Given the description of an element on the screen output the (x, y) to click on. 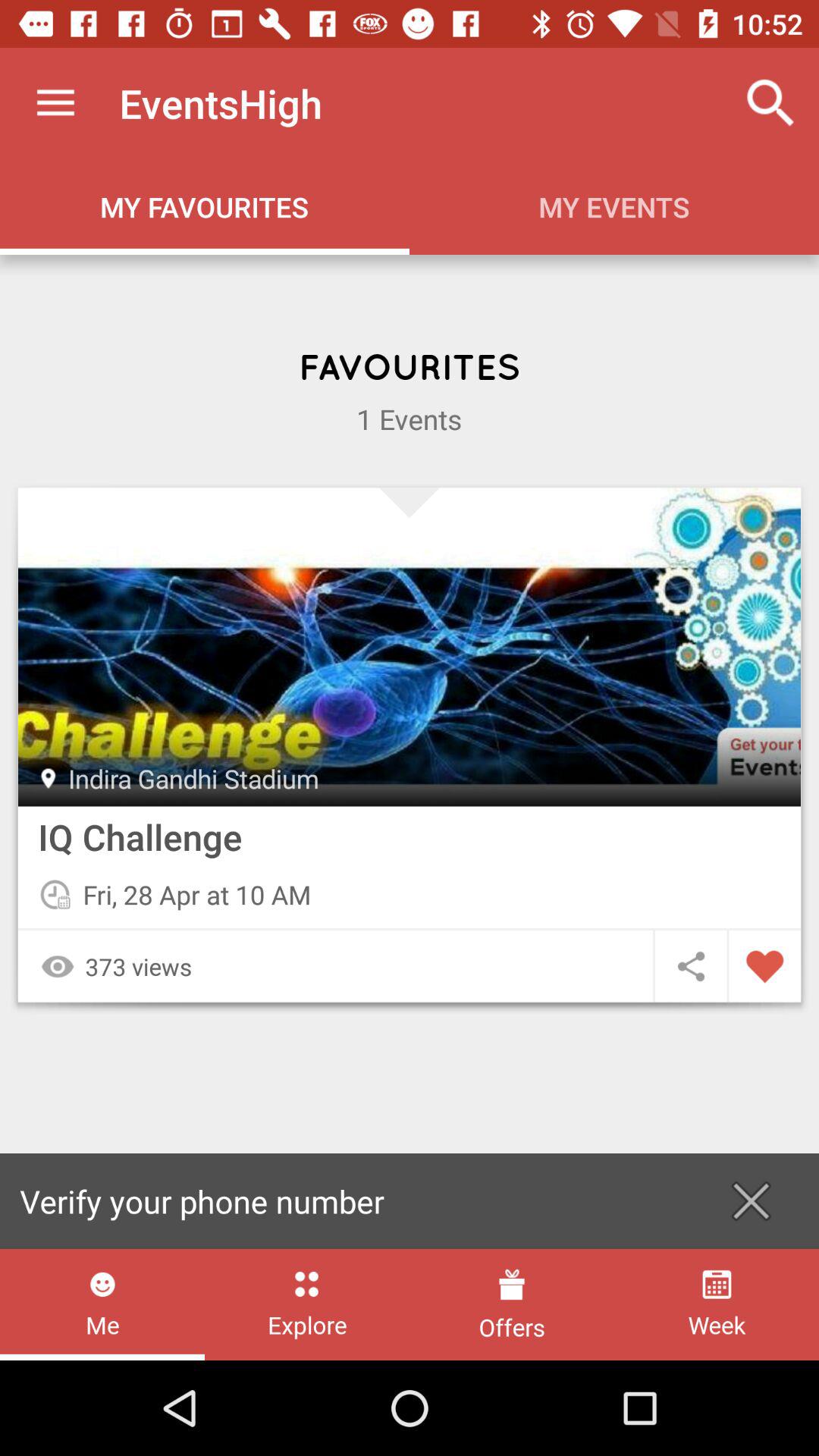
turn on the item below the verify your phone icon (101, 1304)
